Given the description of an element on the screen output the (x, y) to click on. 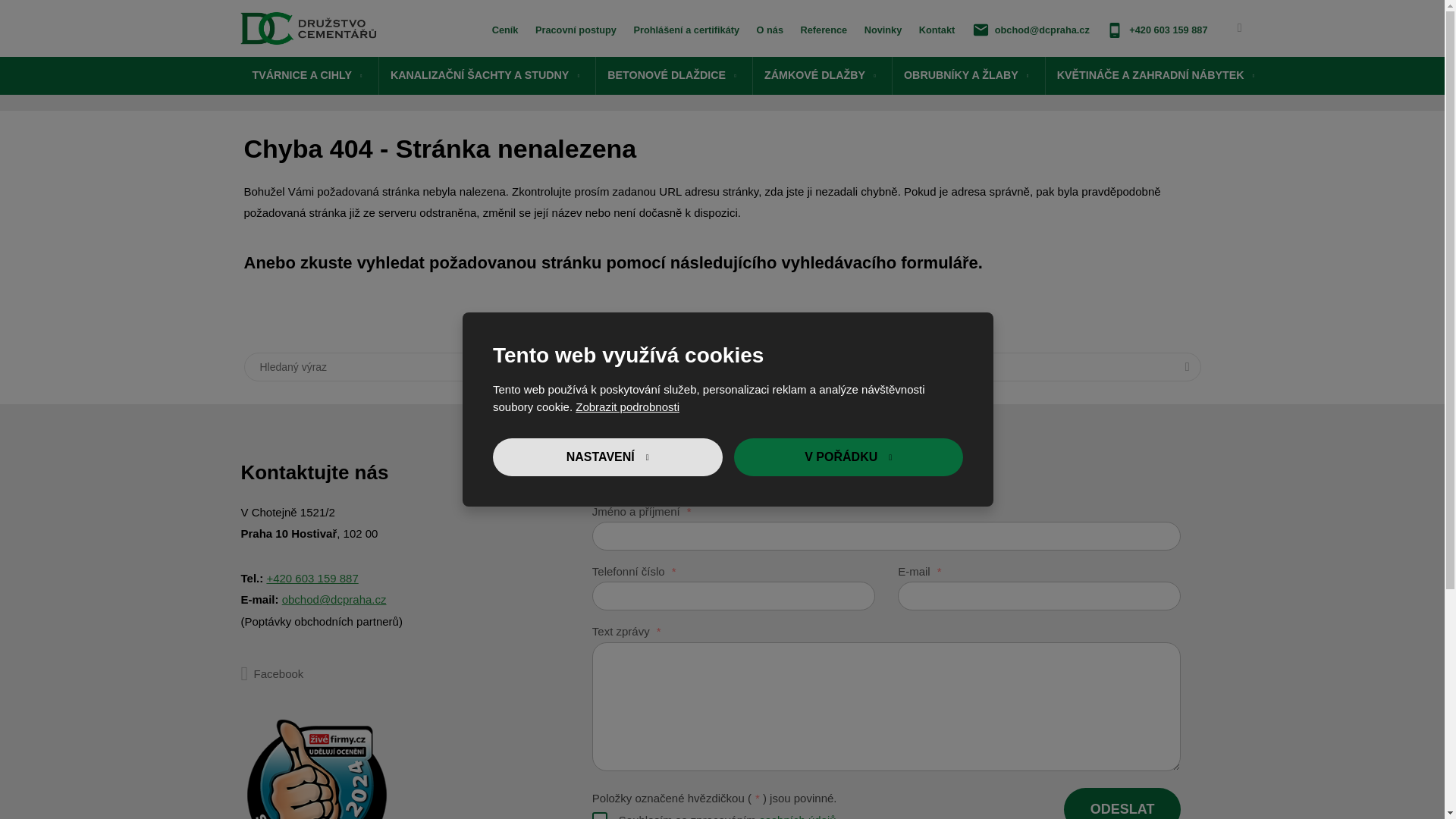
Reference (823, 30)
Novinky (883, 30)
Kontakt (936, 30)
Kontakt (936, 30)
